Given the description of an element on the screen output the (x, y) to click on. 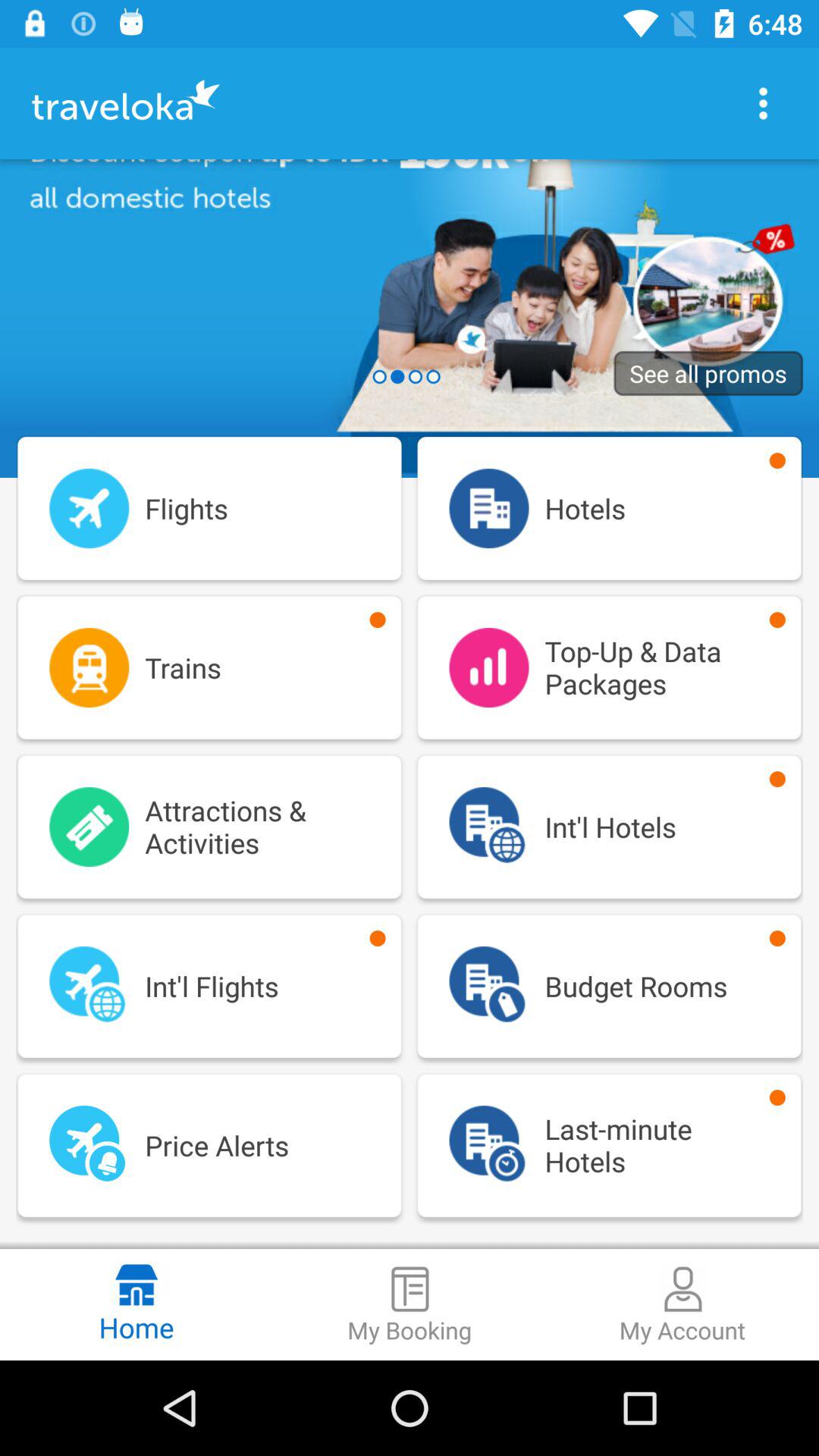
swipe until see all promos icon (708, 373)
